Given the description of an element on the screen output the (x, y) to click on. 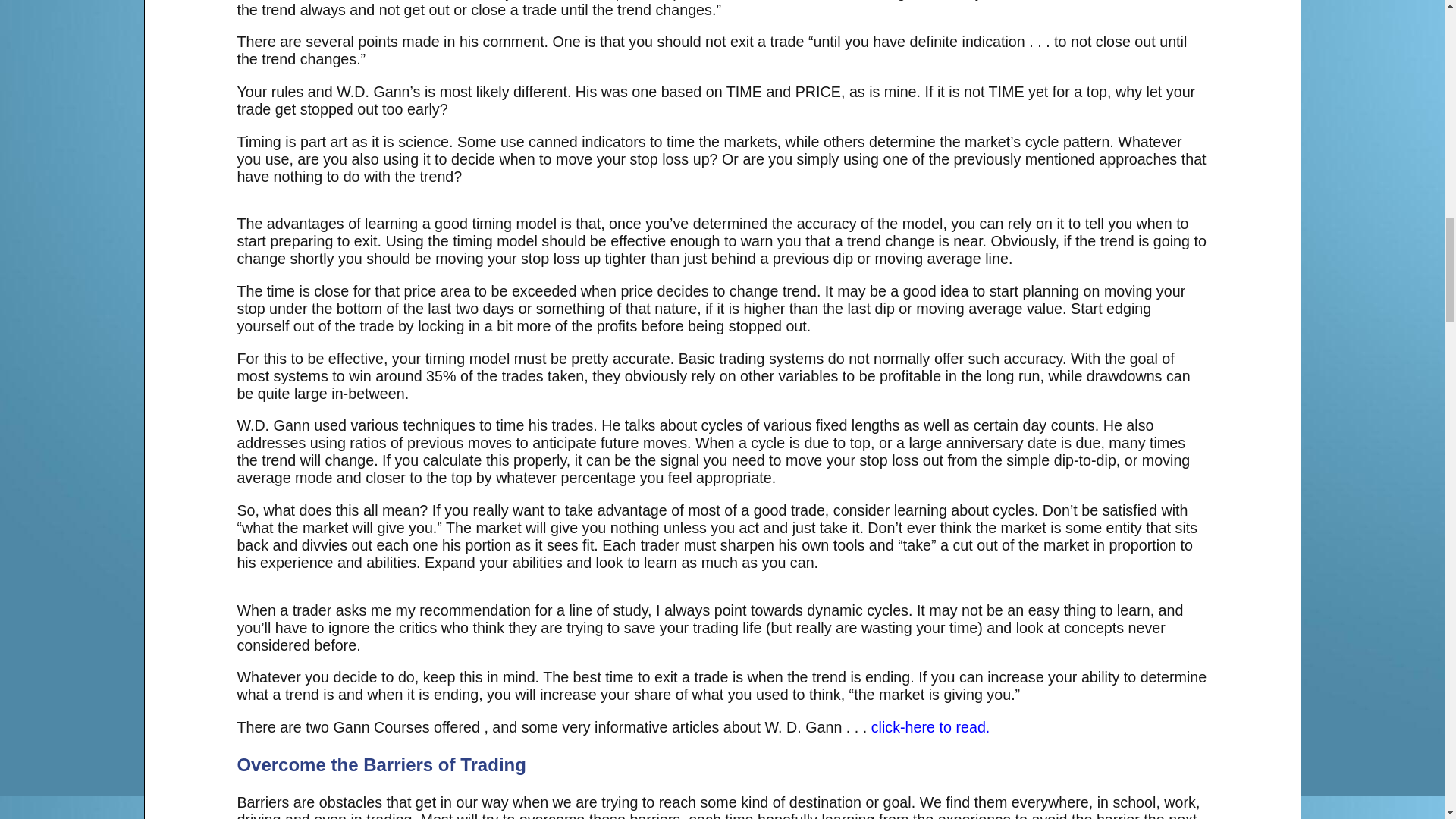
click-here to read. (930, 727)
